Given the description of an element on the screen output the (x, y) to click on. 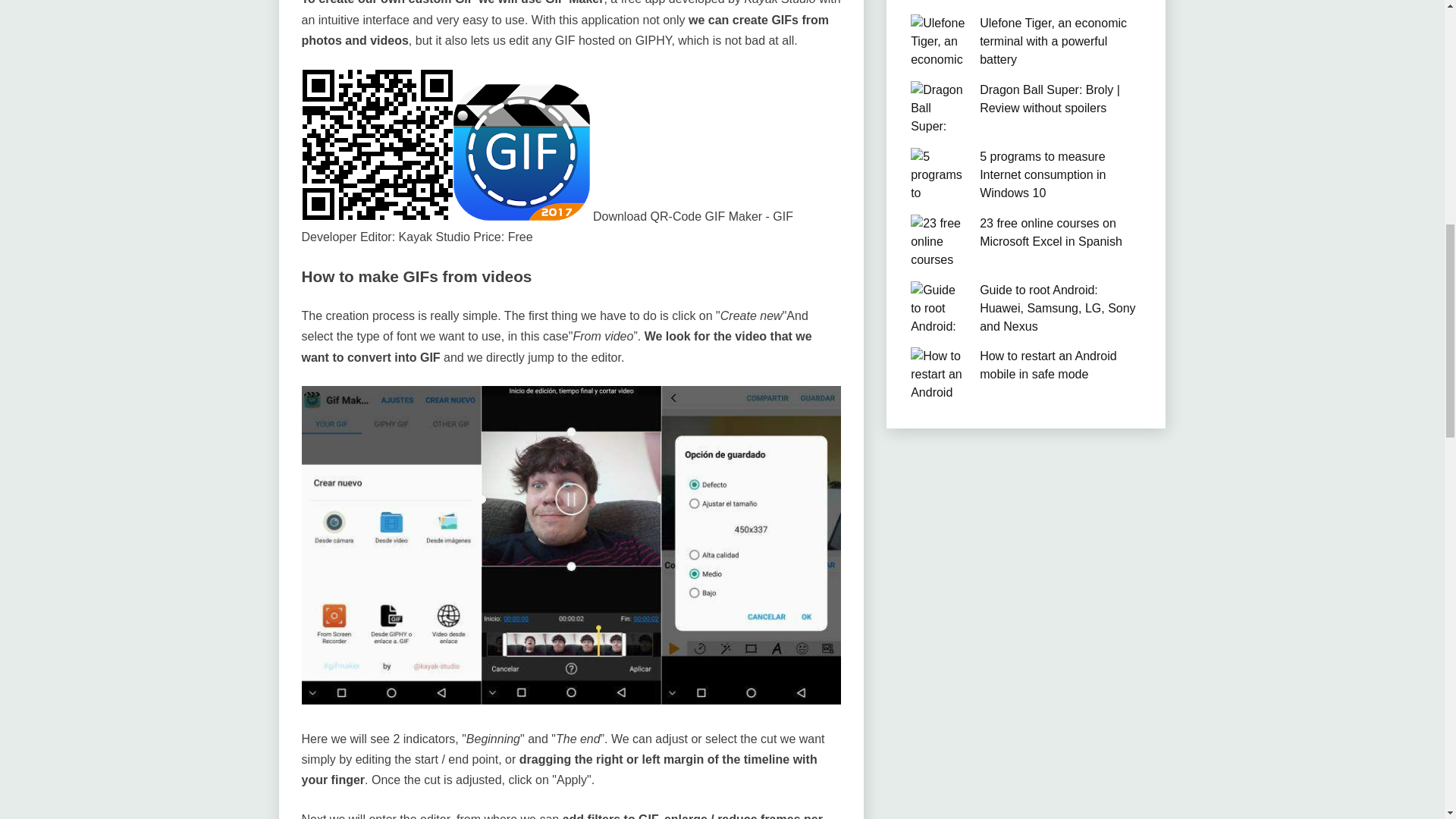
23 free online courses on Microsoft Excel in Spanish (1050, 232)
Guide to root Android: Huawei, Samsung, LG, Sony and Nexus (1057, 307)
5 programs to measure Internet consumption in Windows 10 (1042, 174)
Ulefone Tiger, an economic terminal with a powerful battery (1052, 41)
